Given the description of an element on the screen output the (x, y) to click on. 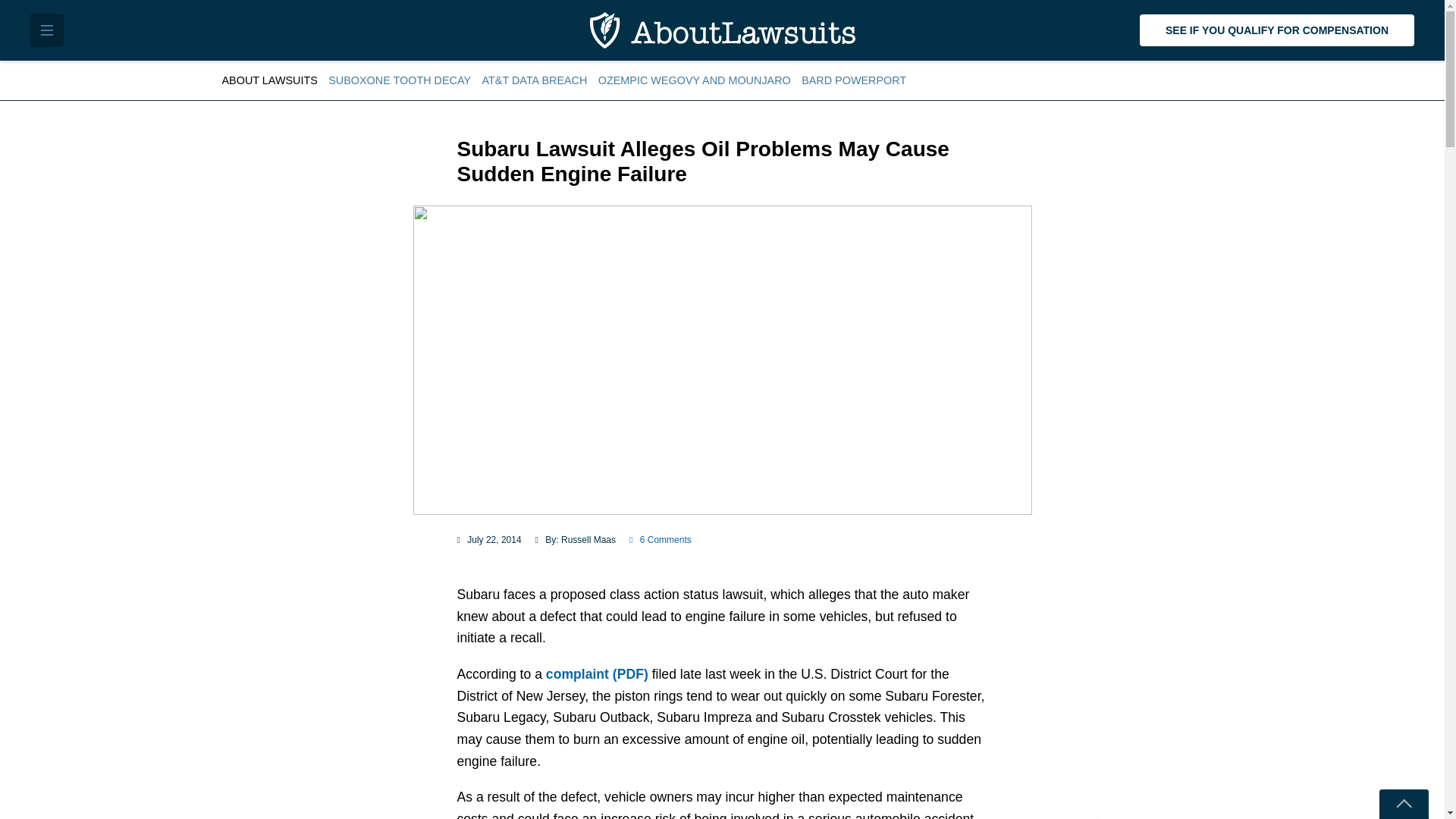
BARD POWERPORT (853, 80)
ABOUT LAWSUITS (272, 80)
OZEMPIC WEGOVY AND MOUNJARO (694, 80)
6 Comments (659, 539)
Toggle Menu (47, 29)
Toggle newsletter signup form. (1403, 804)
SUBOXONE TOOTH DECAY (399, 80)
SEE IF YOU QUALIFY FOR COMPENSATION (1276, 30)
